Given the description of an element on the screen output the (x, y) to click on. 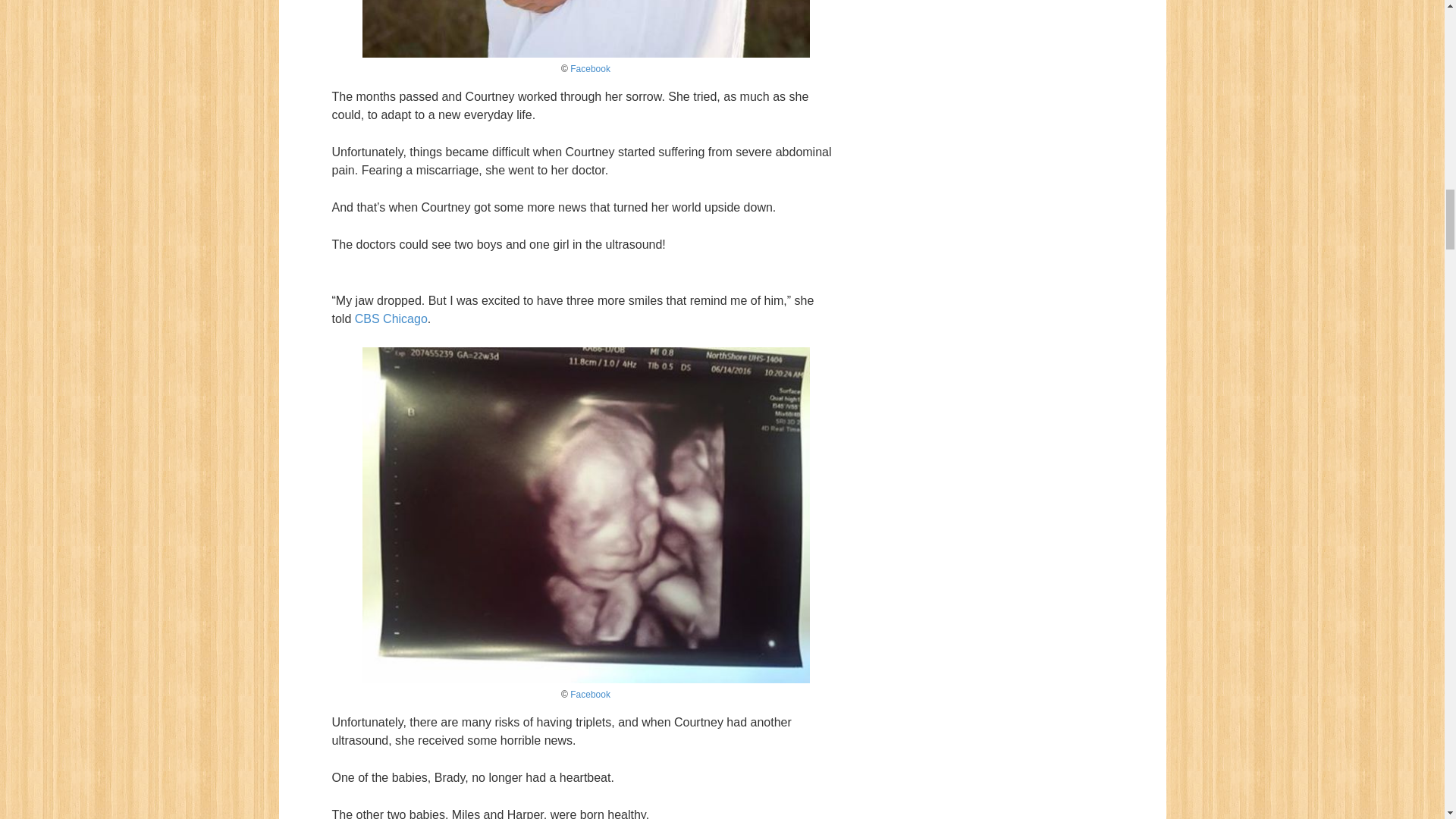
Facebook (590, 68)
Facebook (590, 694)
CBS Chicago (391, 318)
